Given the description of an element on the screen output the (x, y) to click on. 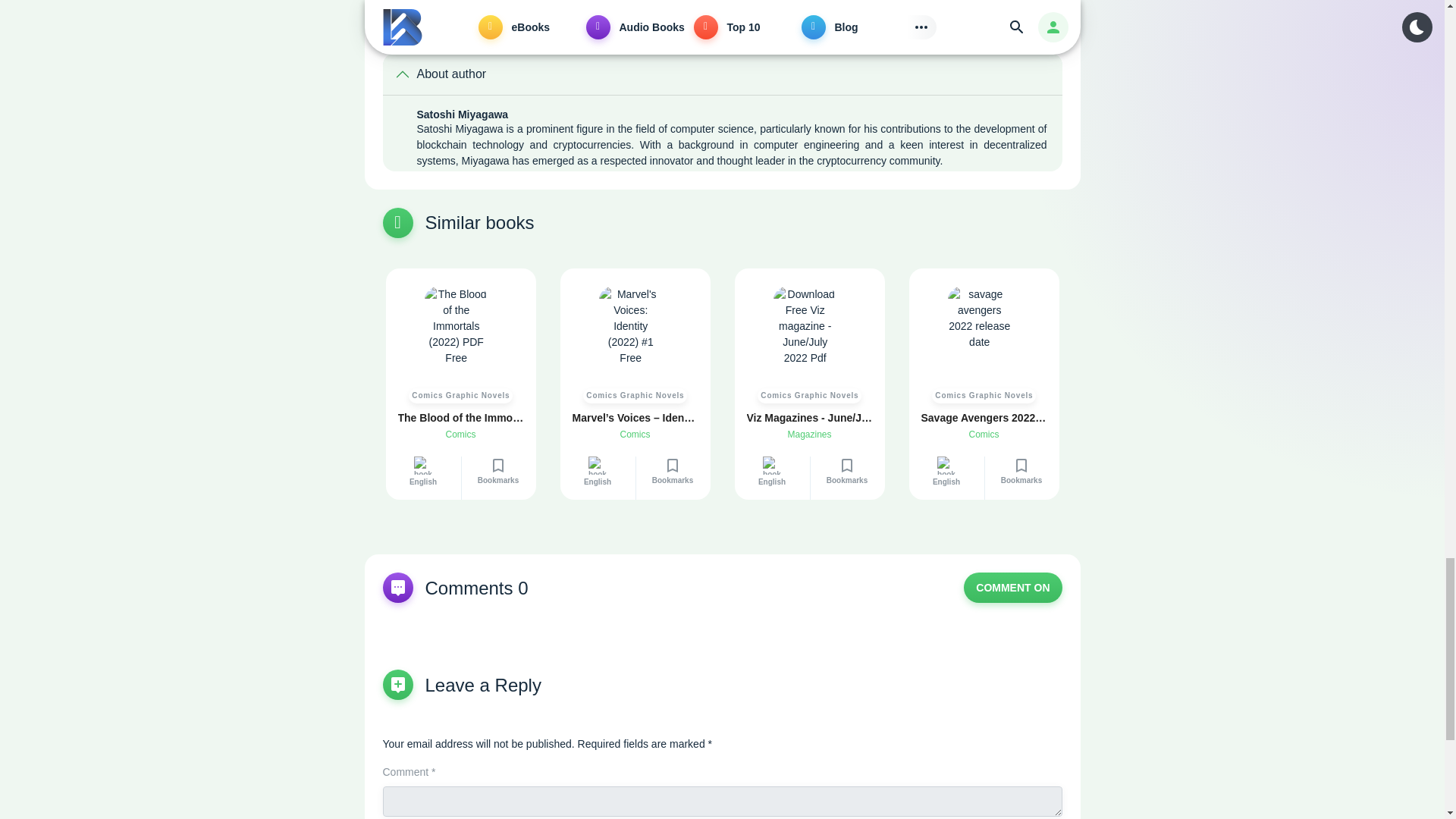
REPORT (590, 2)
About author (721, 74)
BOOK FORMAT REQUEST (472, 2)
